Given the description of an element on the screen output the (x, y) to click on. 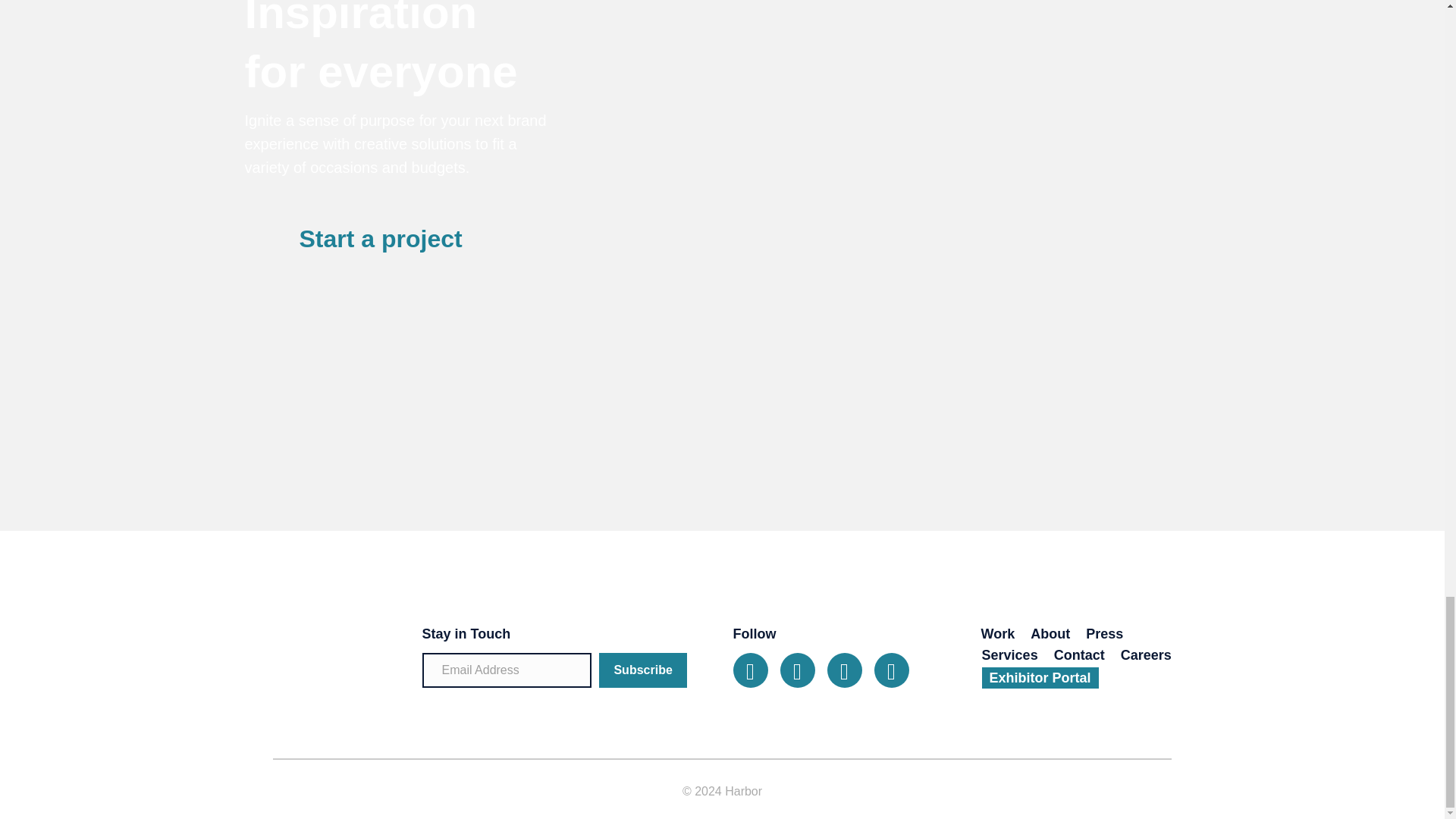
Careers (1146, 654)
Contact (1079, 654)
Harbor Entertainment (1292, 389)
Services (1009, 654)
Press (1104, 633)
Work (998, 633)
About (1050, 633)
Harbor Logo (317, 653)
Start a project (475, 238)
Subscribe (642, 669)
